Given the description of an element on the screen output the (x, y) to click on. 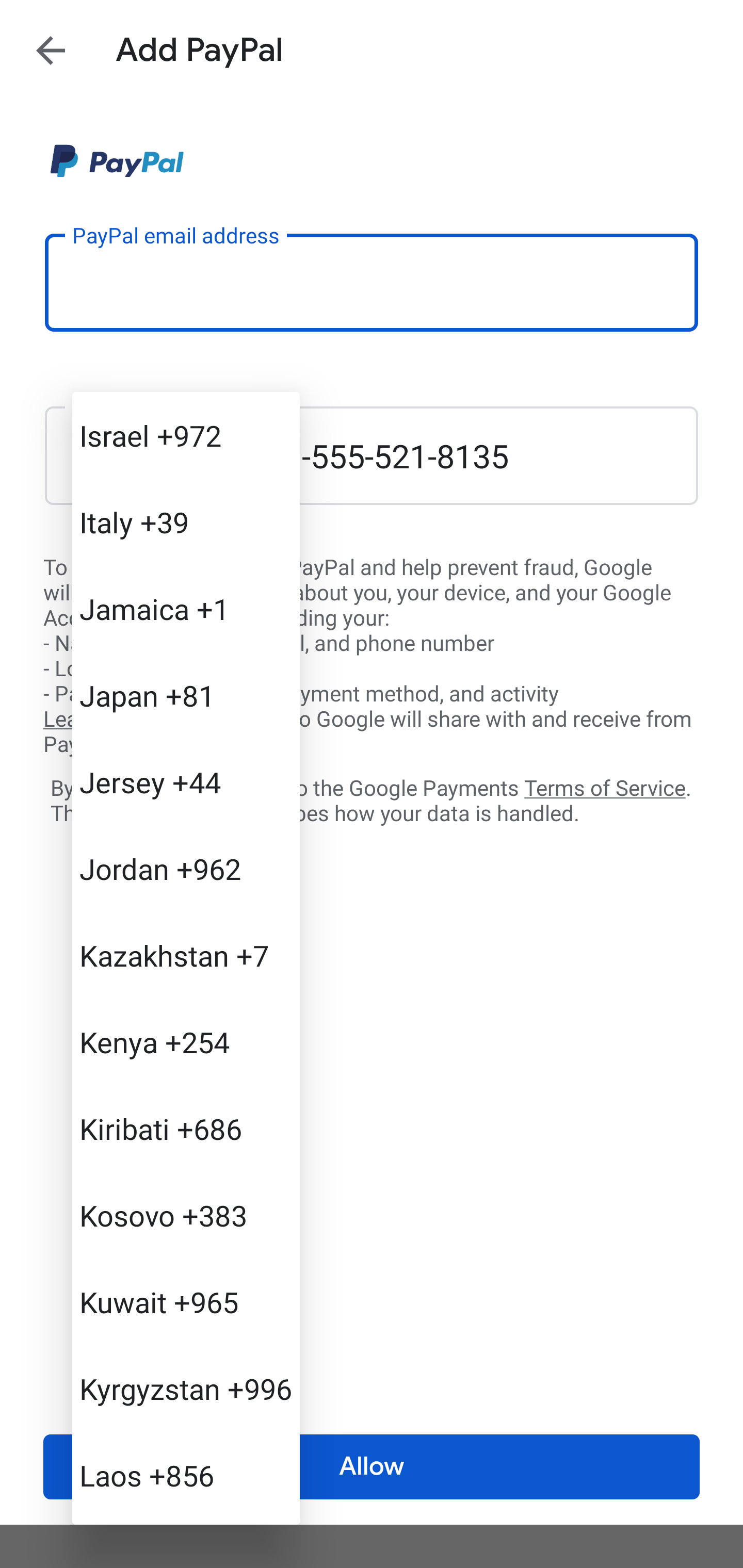
Israel +972 (185, 435)
Italy +39 (185, 522)
Jamaica +1 (185, 609)
Japan +81 (185, 695)
Jersey +44 (185, 781)
Jordan +962 (185, 868)
Kazakhstan +7 (185, 955)
Kenya +254 (185, 1041)
Kiribati +686 (185, 1128)
Kosovo +383 (185, 1215)
Kuwait +965 (185, 1302)
Kyrgyzstan +996 (185, 1388)
Laos +856 (185, 1474)
